Given the description of an element on the screen output the (x, y) to click on. 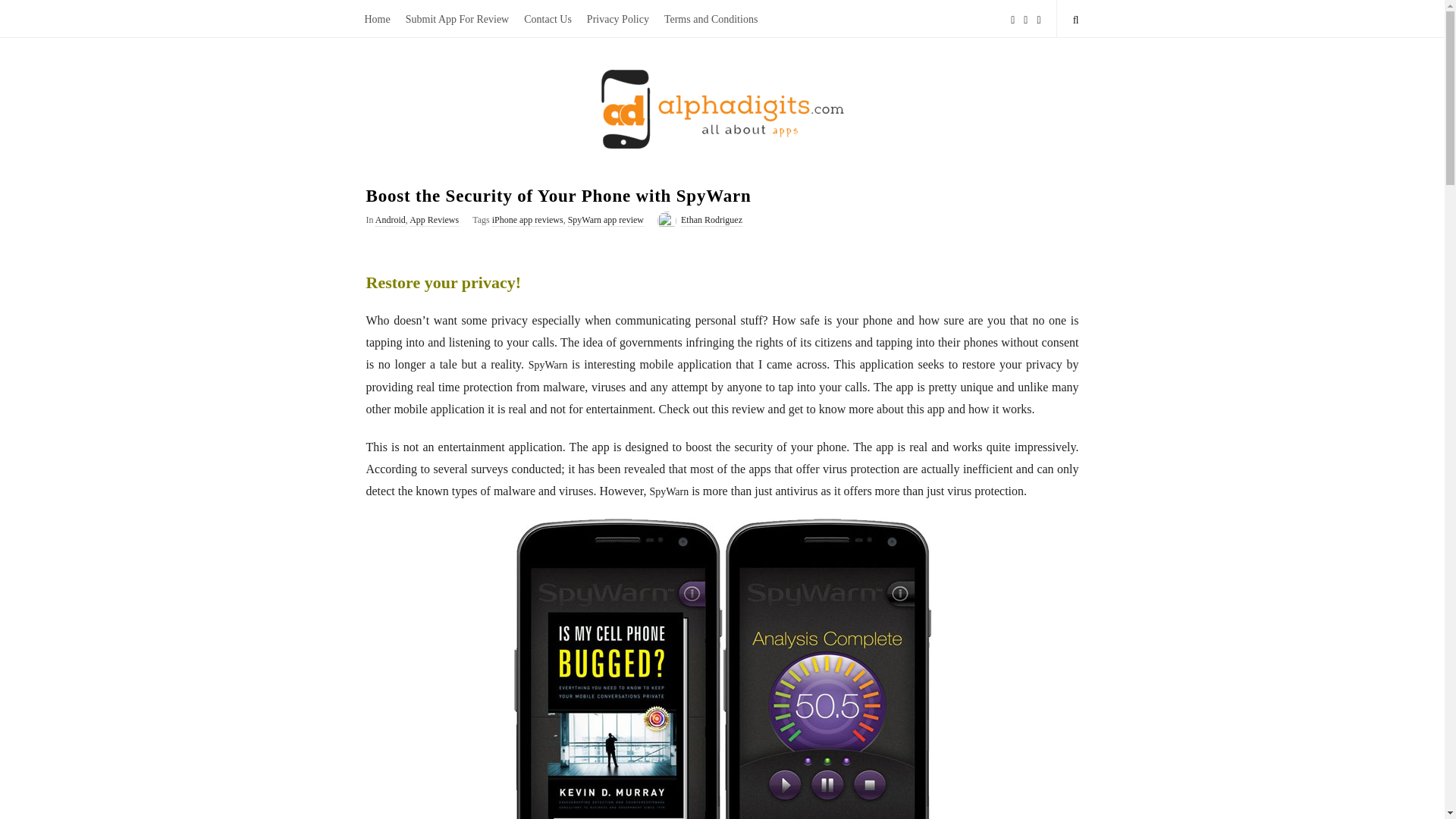
Privacy Policy (617, 18)
Ethan Rodriguez (711, 220)
Android (390, 220)
Home (376, 18)
iPhone app reviews (527, 220)
Submit App For Review (456, 18)
Terms and Conditions (710, 18)
SpyWarn app review (605, 220)
Contact Us (547, 18)
App Reviews (433, 220)
